Given the description of an element on the screen output the (x, y) to click on. 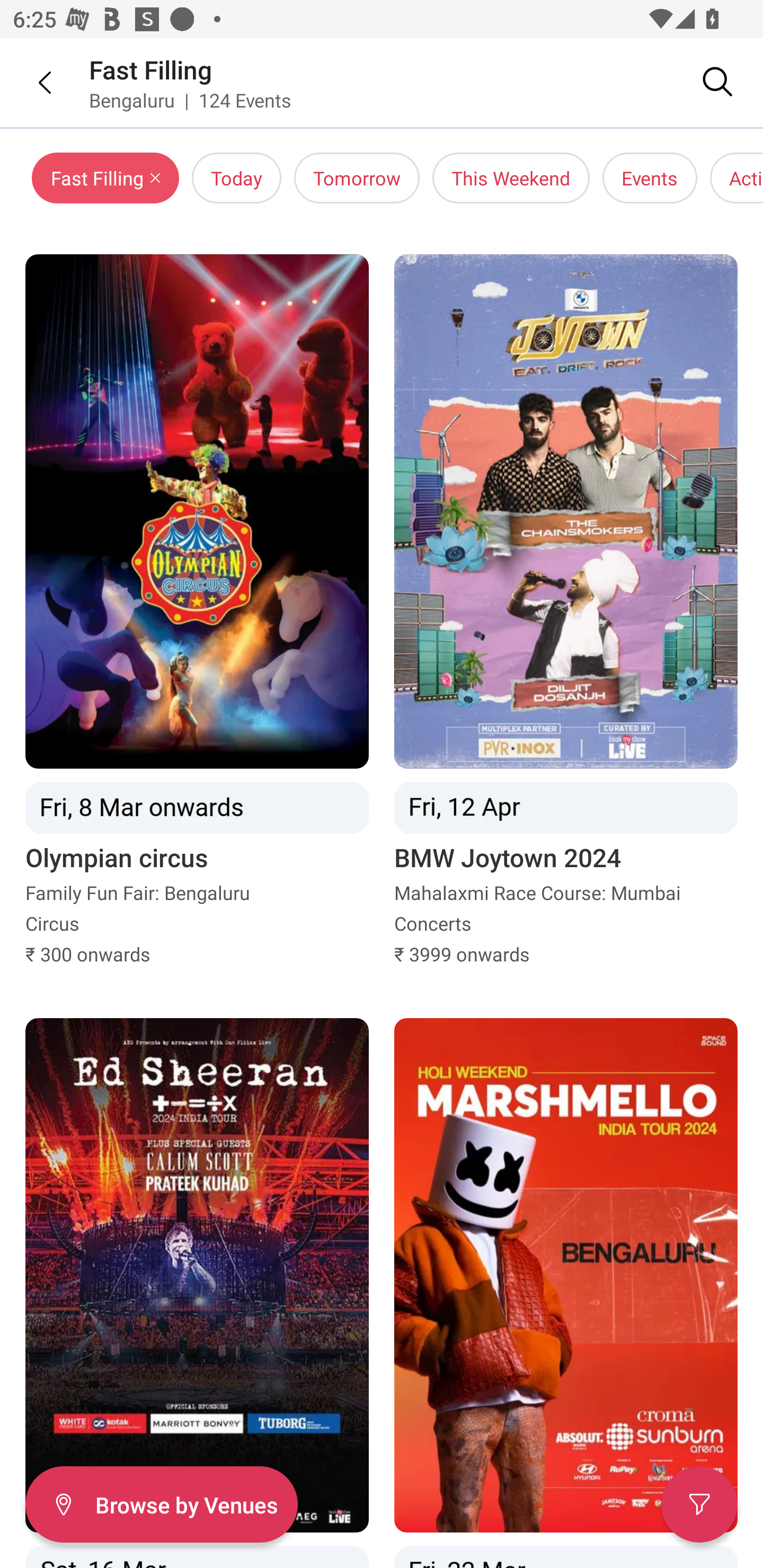
Back (31, 82)
Fast Filling (150, 68)
Bengaluru  |  124 Events (190, 99)
Fast Filling Close (105, 177)
Today (236, 177)
Tomorrow (356, 177)
This Weekend (510, 177)
Events (649, 177)
Filter Browse by Venues (161, 1504)
Filter (699, 1504)
